Given the description of an element on the screen output the (x, y) to click on. 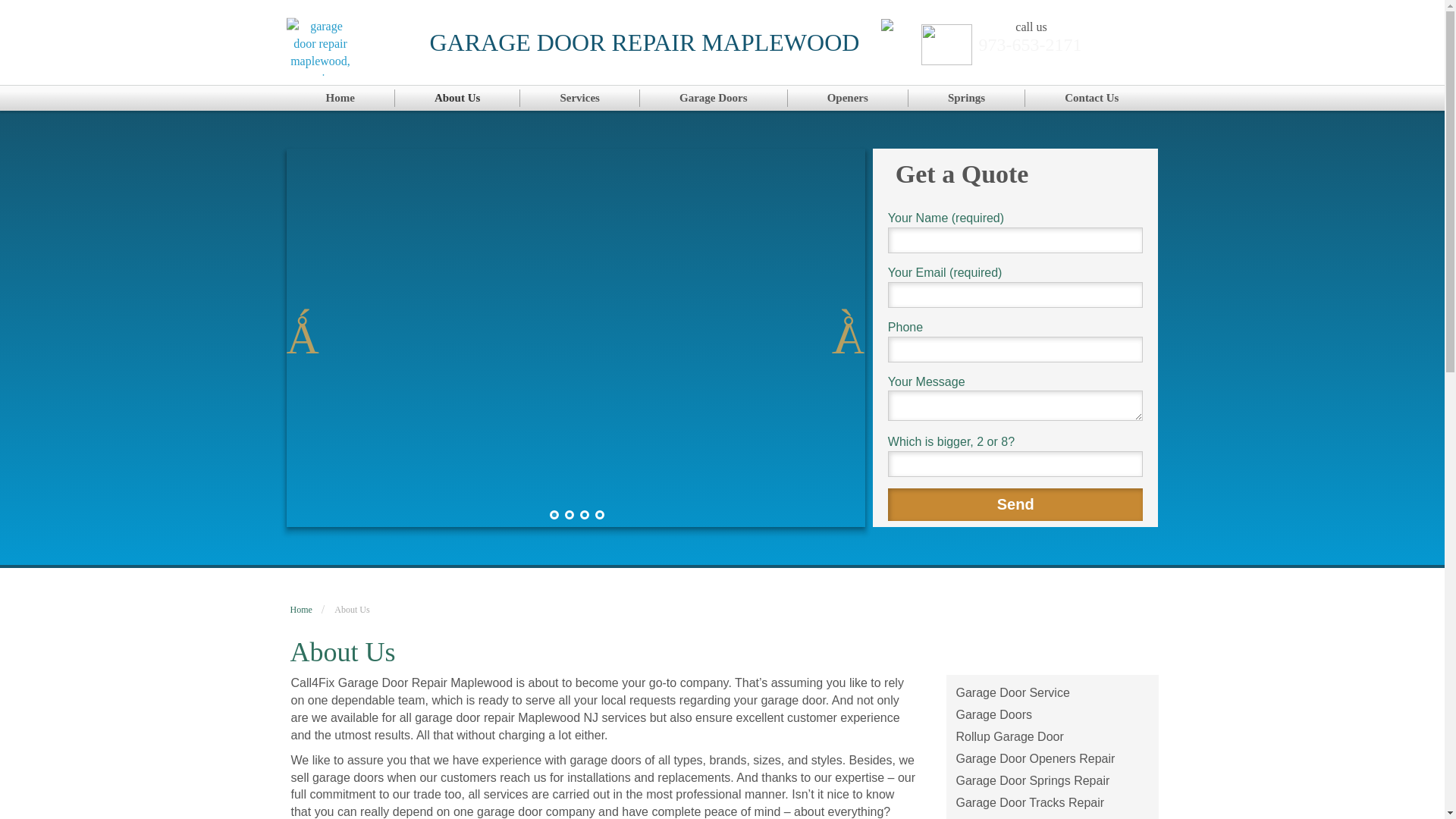
Home (340, 98)
Contact Us (1091, 98)
Garage Doors (713, 98)
Services (579, 98)
973-653-2171 (1029, 44)
Springs (966, 98)
Openers (847, 98)
About Us (457, 98)
Send (1015, 504)
